Given the description of an element on the screen output the (x, y) to click on. 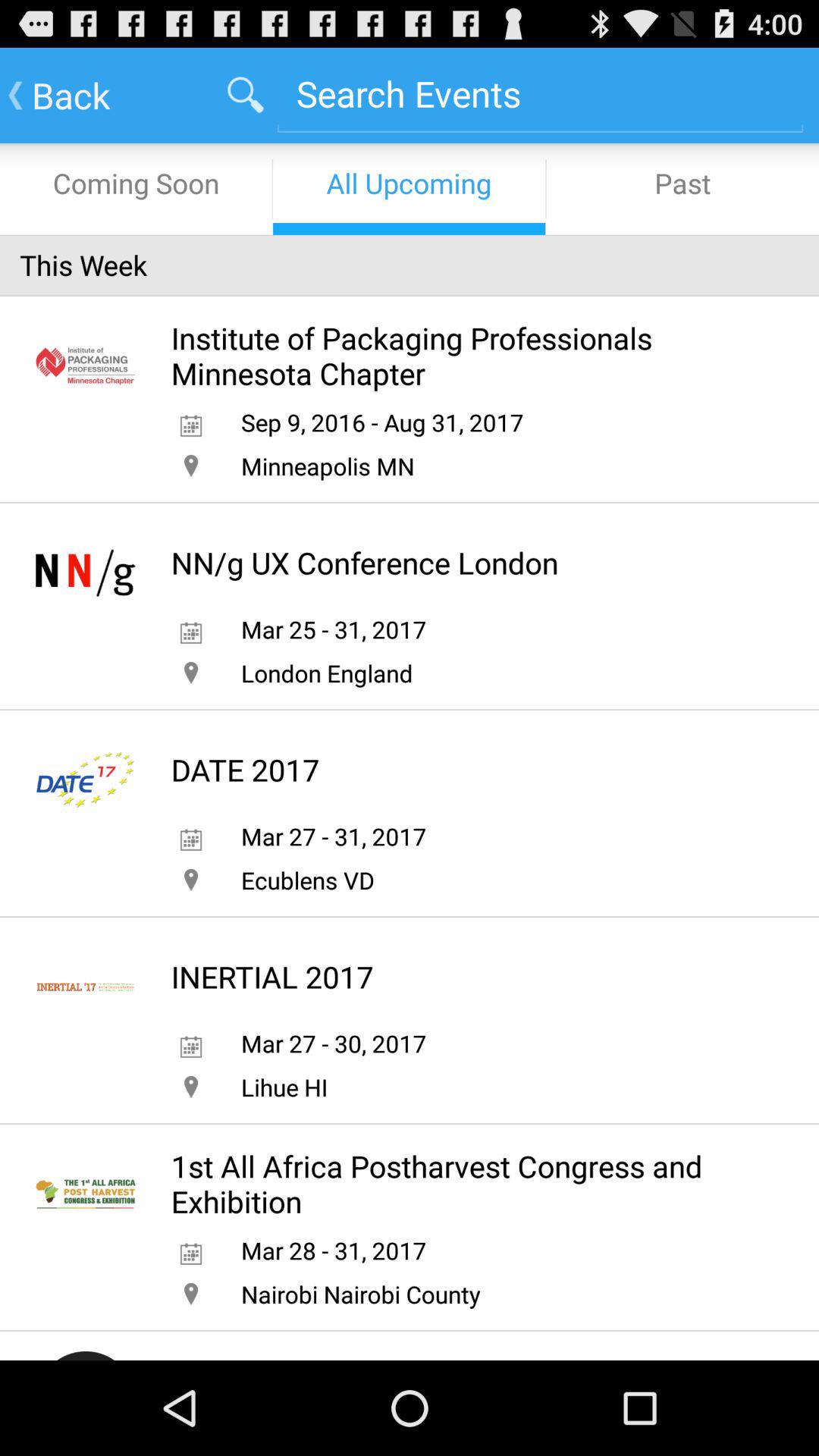
open 1st all africa app (463, 1183)
